Given the description of an element on the screen output the (x, y) to click on. 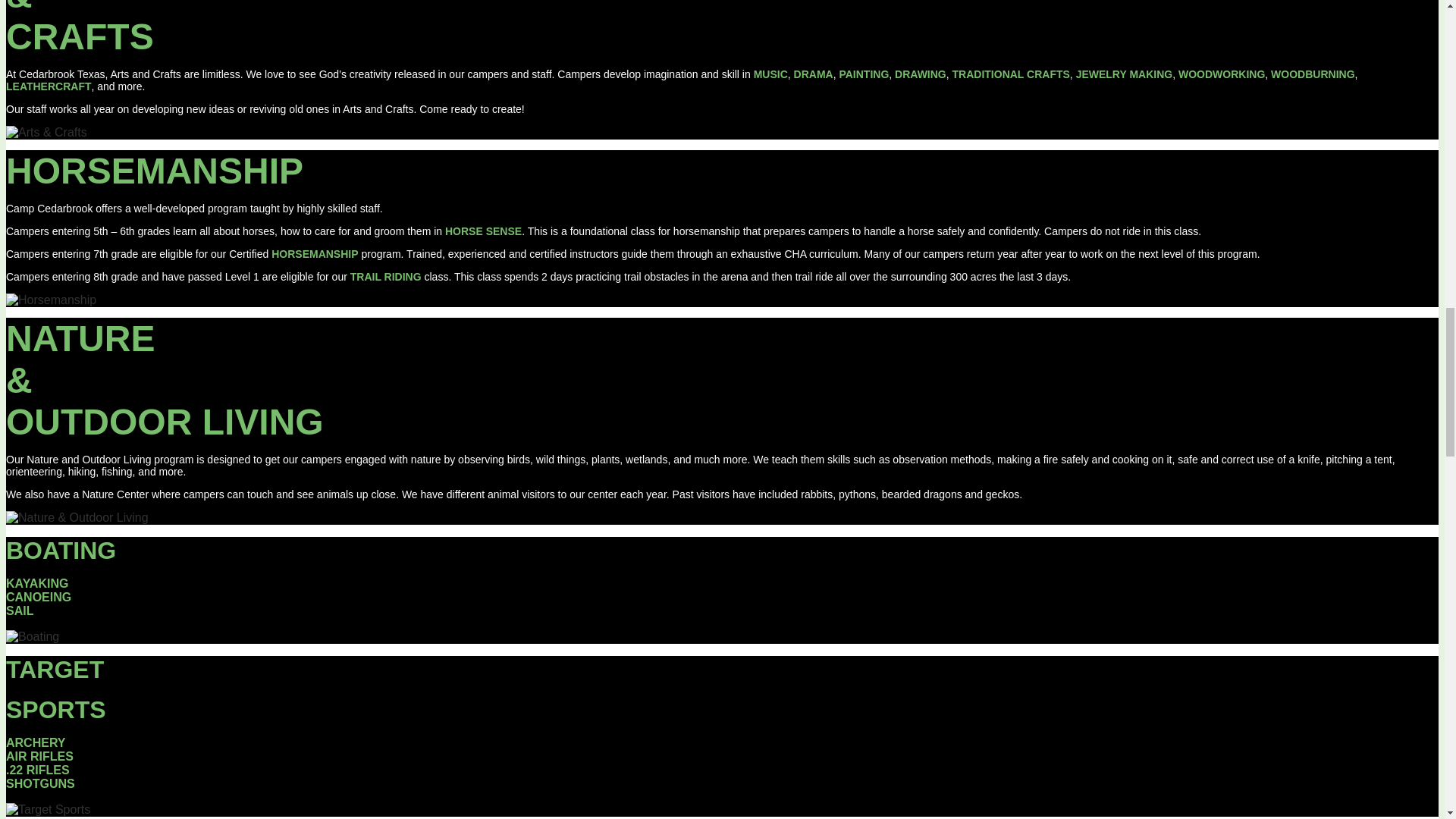
Target Sports (47, 809)
Boating (32, 636)
Horsemanship (50, 300)
